Given the description of an element on the screen output the (x, y) to click on. 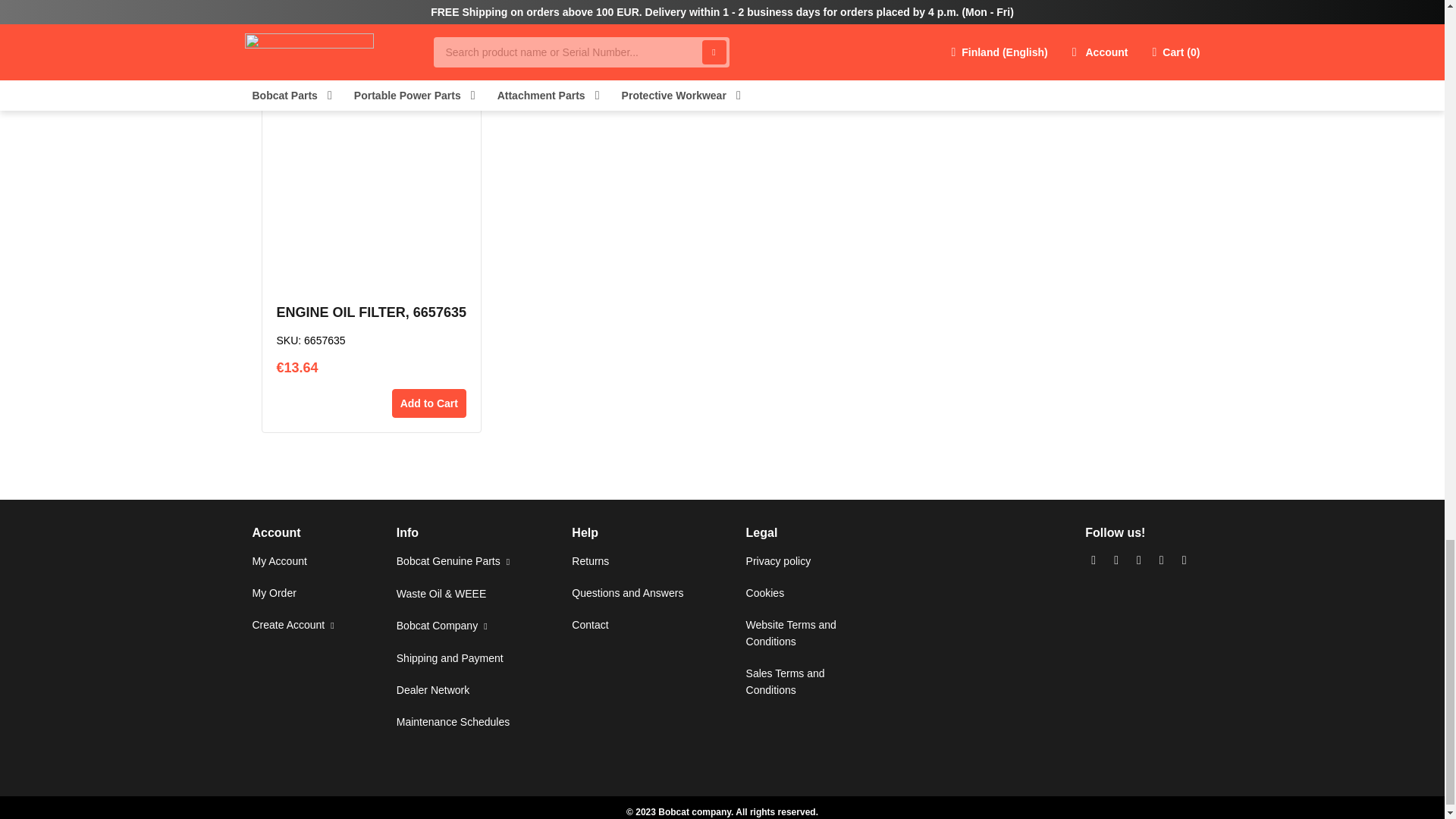
Privacy policy (777, 561)
Add to Cart (753, 32)
ENGINE OIL FILTER, 6657635 (370, 312)
Add to Cart (1101, 13)
Sales Terms and Conditions (785, 681)
Add to Cart (428, 403)
Website Terms and Conditions (790, 633)
